Given the description of an element on the screen output the (x, y) to click on. 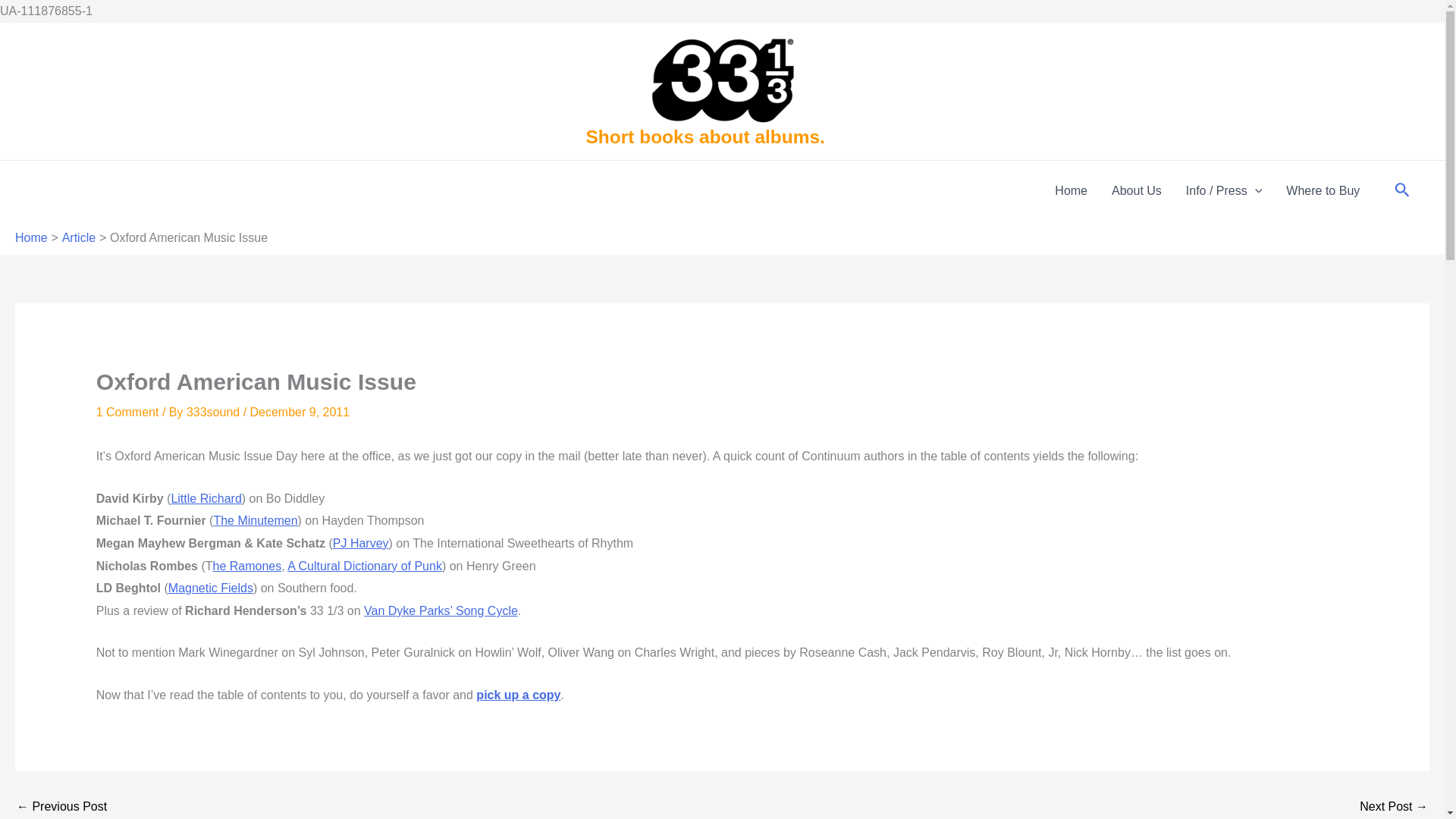
Snapshots from a Van Halen in-store appearance in 1978. (1393, 806)
1 Comment (127, 411)
Short books about albums. (704, 136)
The Minutemen (254, 520)
Home (31, 237)
Article (79, 237)
Where to Buy (1322, 190)
Little Richard (205, 498)
View all posts by 333sound (214, 411)
About Us (1136, 190)
